Given the description of an element on the screen output the (x, y) to click on. 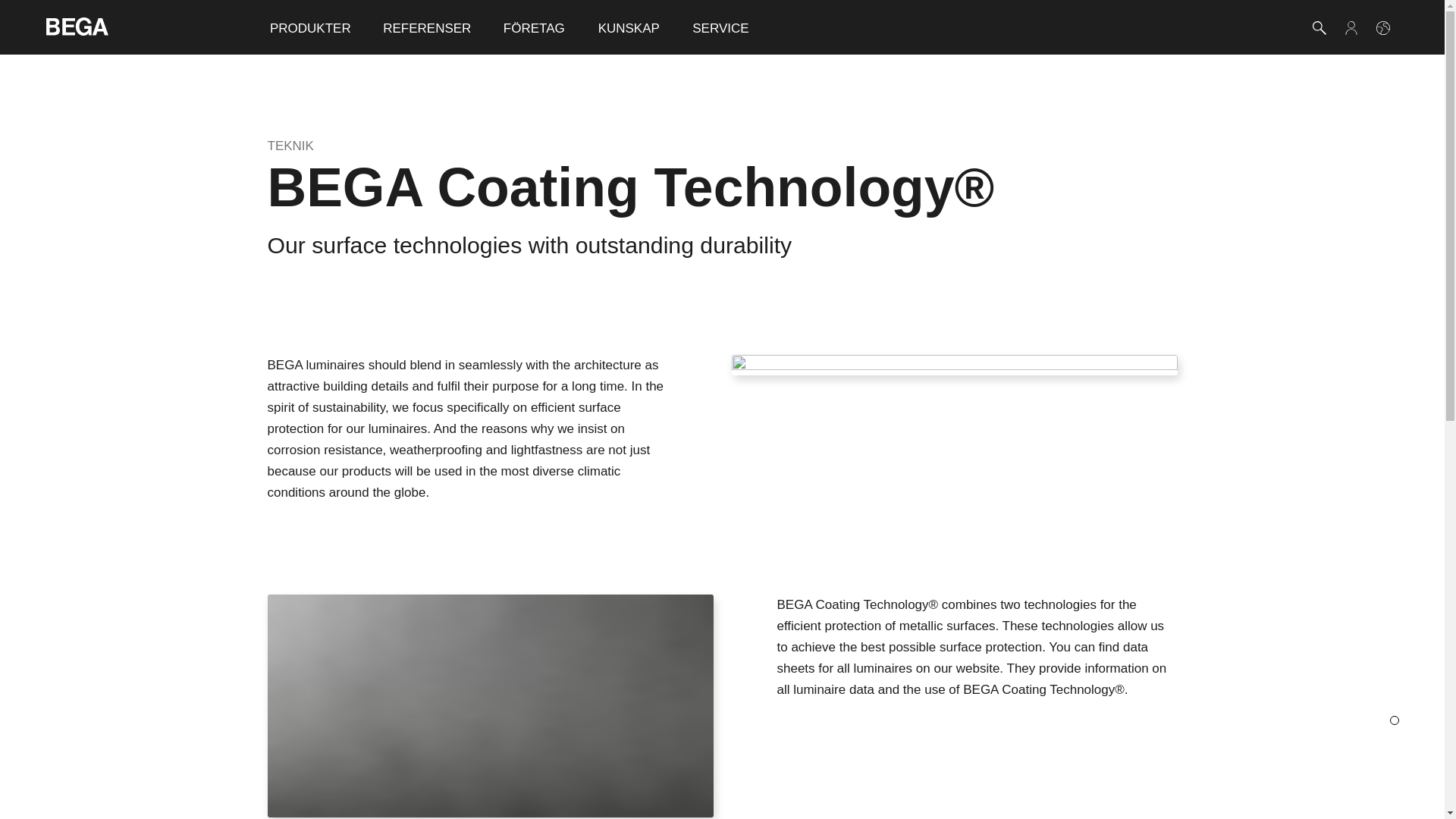
PRODUKTER (309, 27)
SERVICE (720, 27)
Service (720, 27)
KUNSKAP (628, 27)
Kunskap (628, 27)
REFERENSER (426, 27)
Referenser (426, 27)
Produkter (309, 27)
